Given the description of an element on the screen output the (x, y) to click on. 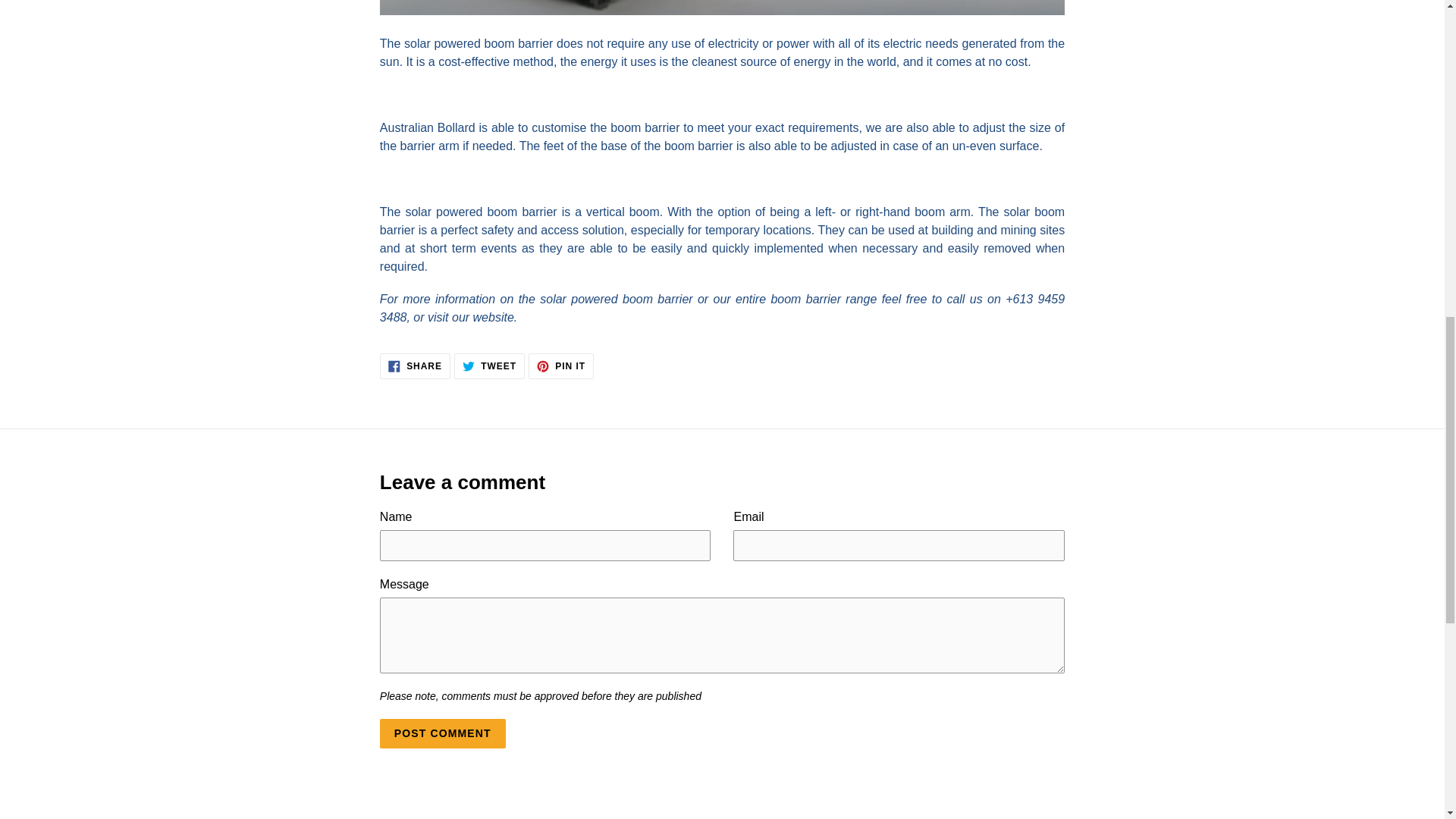
Post comment (414, 365)
Post comment (442, 733)
